Given the description of an element on the screen output the (x, y) to click on. 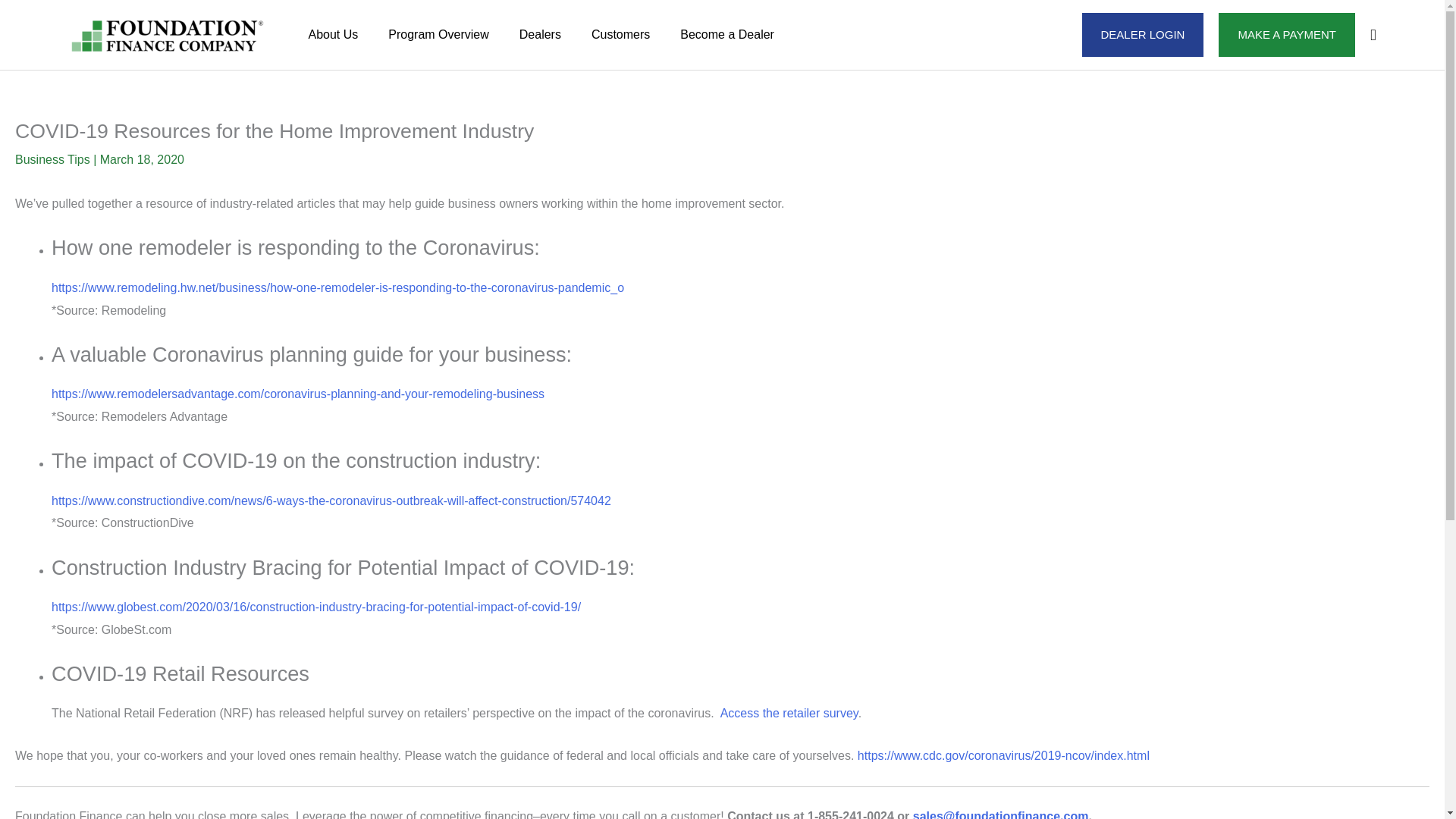
About Us (332, 34)
Dealers (539, 34)
Program Overview (437, 34)
